Given the description of an element on the screen output the (x, y) to click on. 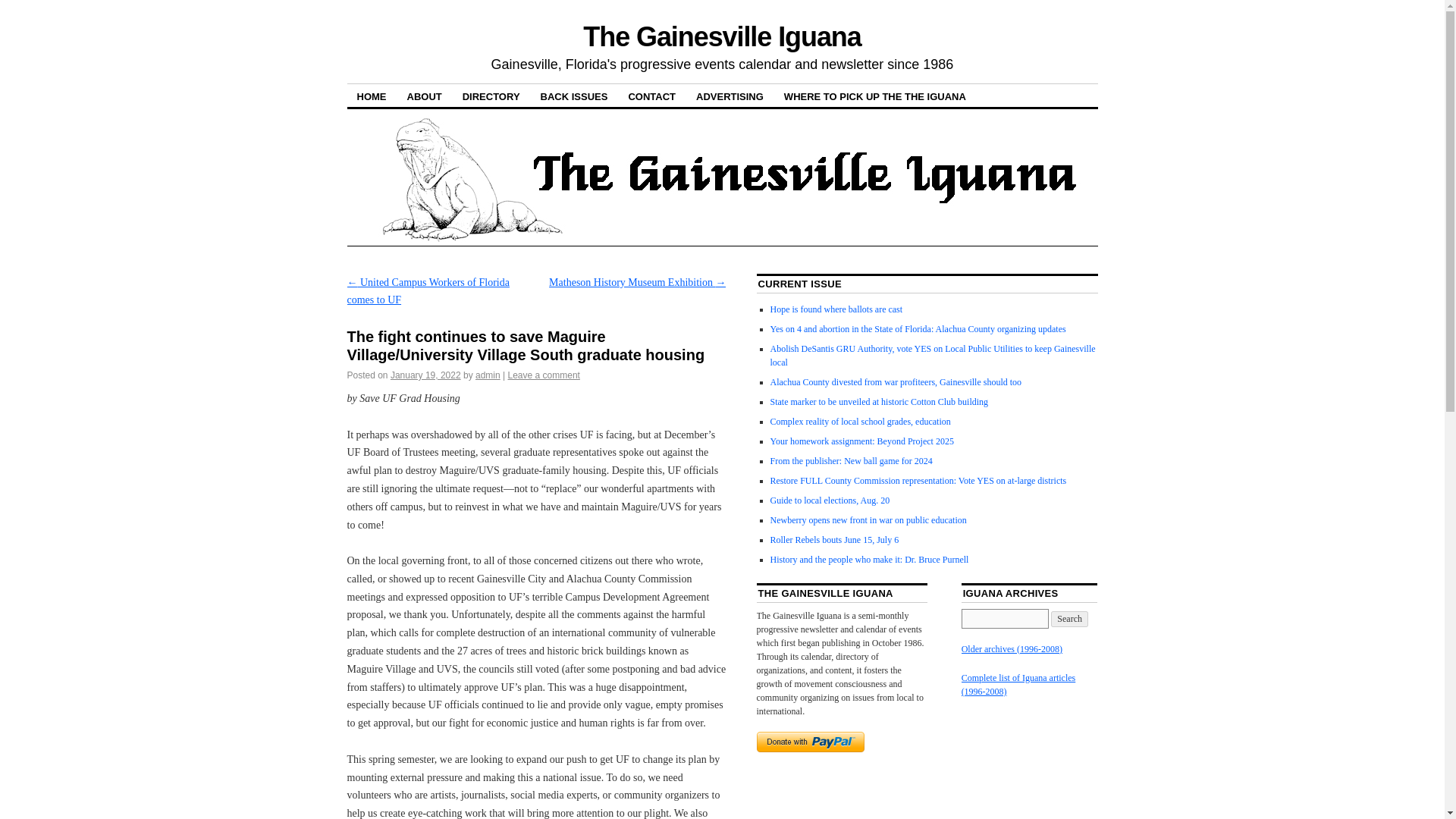
Your homework assignment: Beyond Project 2025 (861, 440)
DIRECTORY (490, 96)
Guide to local elections, Aug. 20 (829, 500)
View all posts by admin (488, 375)
CONTACT (651, 96)
WHERE TO PICK UP THE THE IGUANA (874, 96)
January 19, 2022 (425, 375)
Newberry opens new front in war on public education (868, 520)
